Given the description of an element on the screen output the (x, y) to click on. 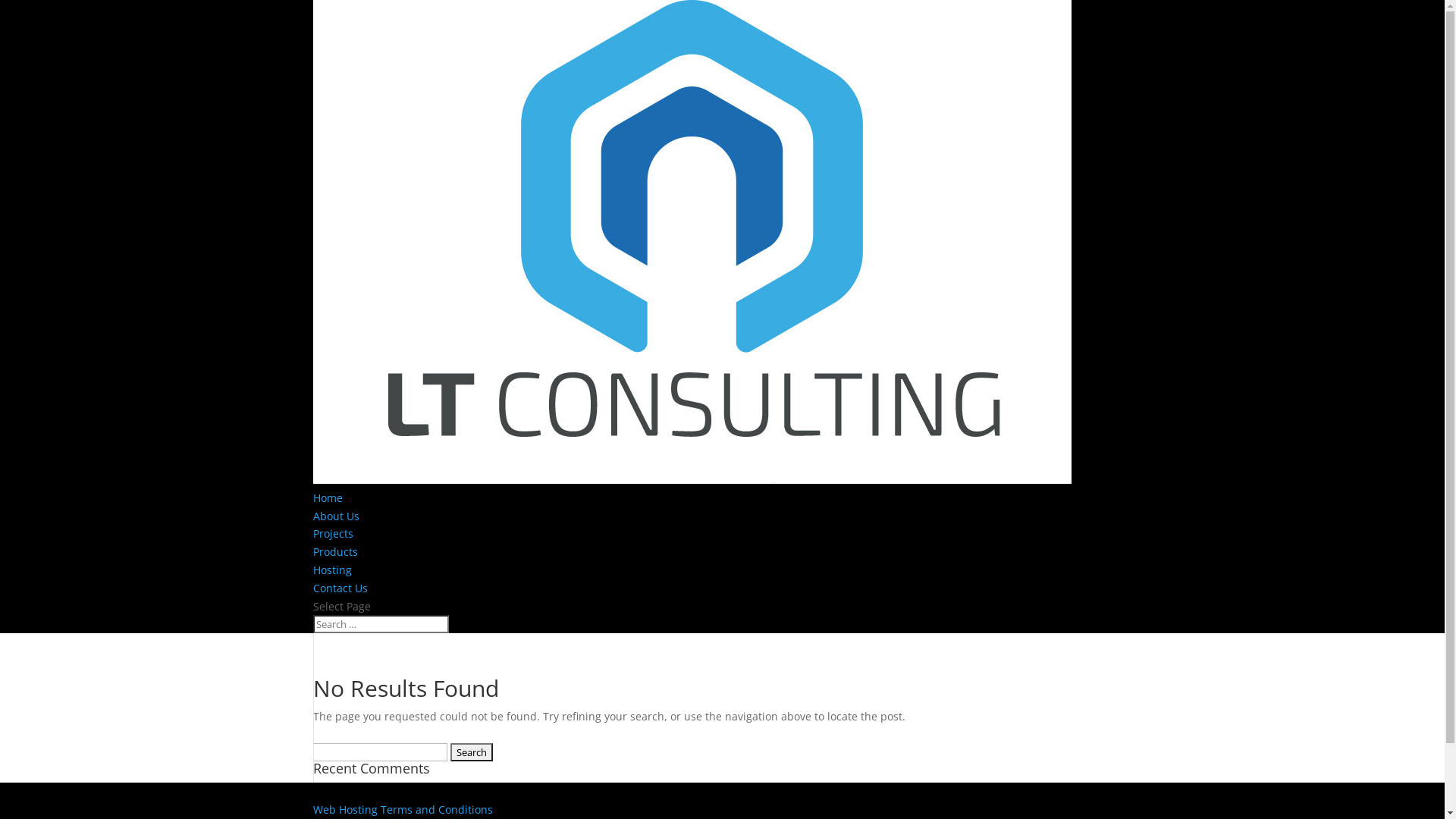
Web Hosting Terms and Conditions Element type: text (402, 809)
Search Element type: text (471, 752)
Products Element type: text (334, 551)
Hosting Element type: text (331, 569)
Search for: Element type: hover (380, 624)
Projects Element type: text (332, 533)
About Us Element type: text (335, 515)
Home Element type: text (327, 497)
Contact Us Element type: text (339, 587)
